Given the description of an element on the screen output the (x, y) to click on. 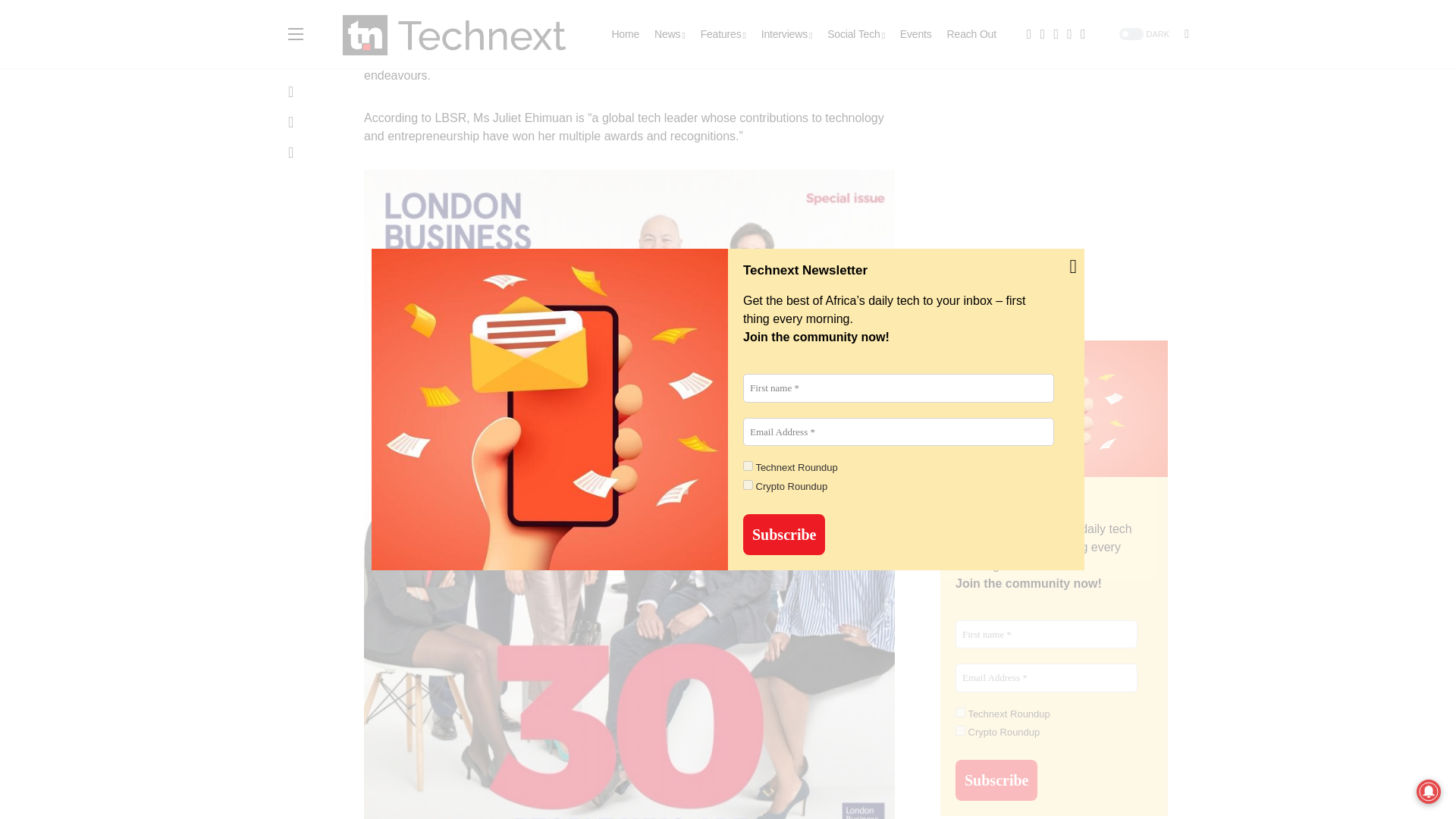
Advertisement (1053, 115)
